Given the description of an element on the screen output the (x, y) to click on. 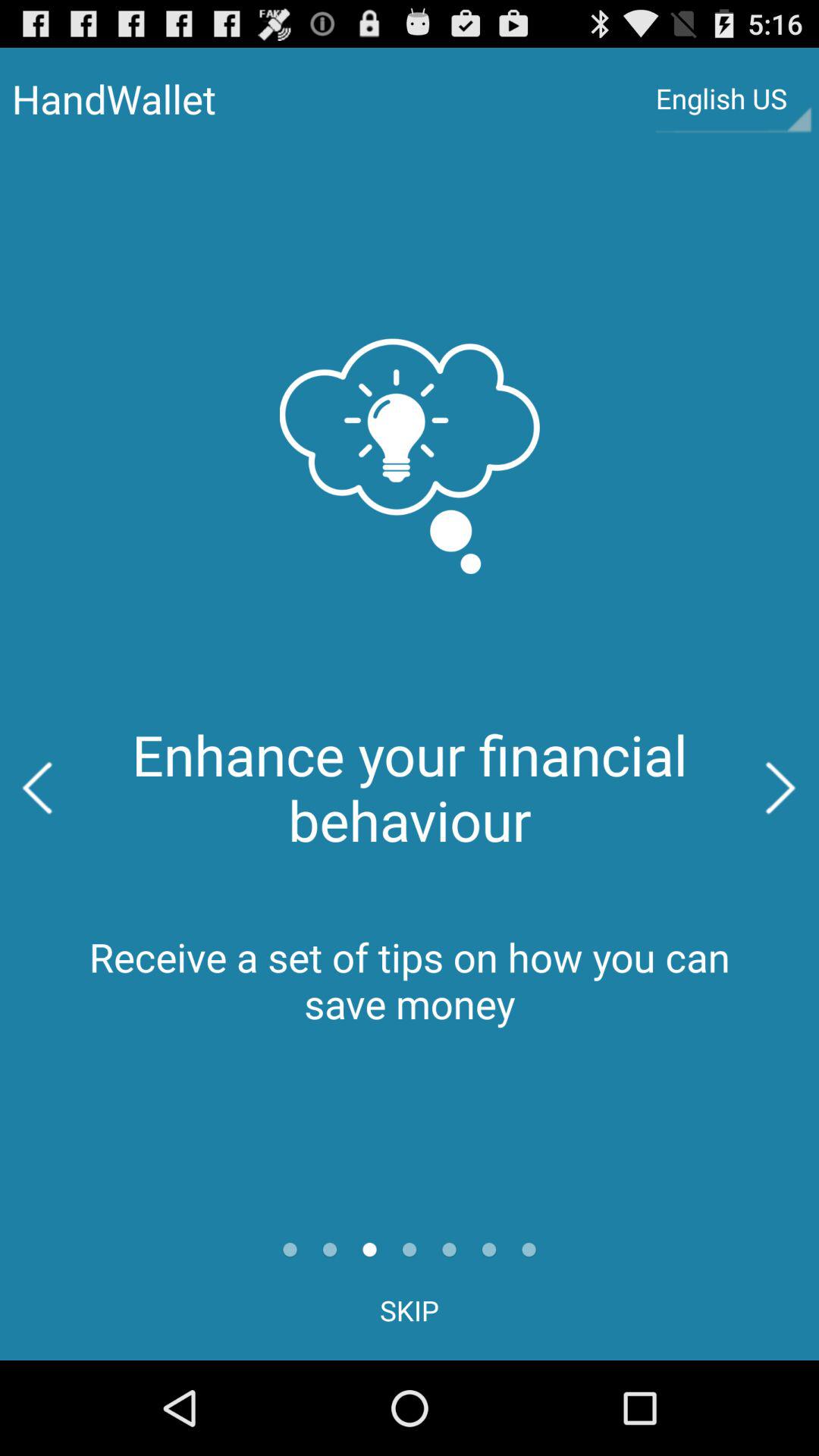
advance to the next slide (781, 787)
